Given the description of an element on the screen output the (x, y) to click on. 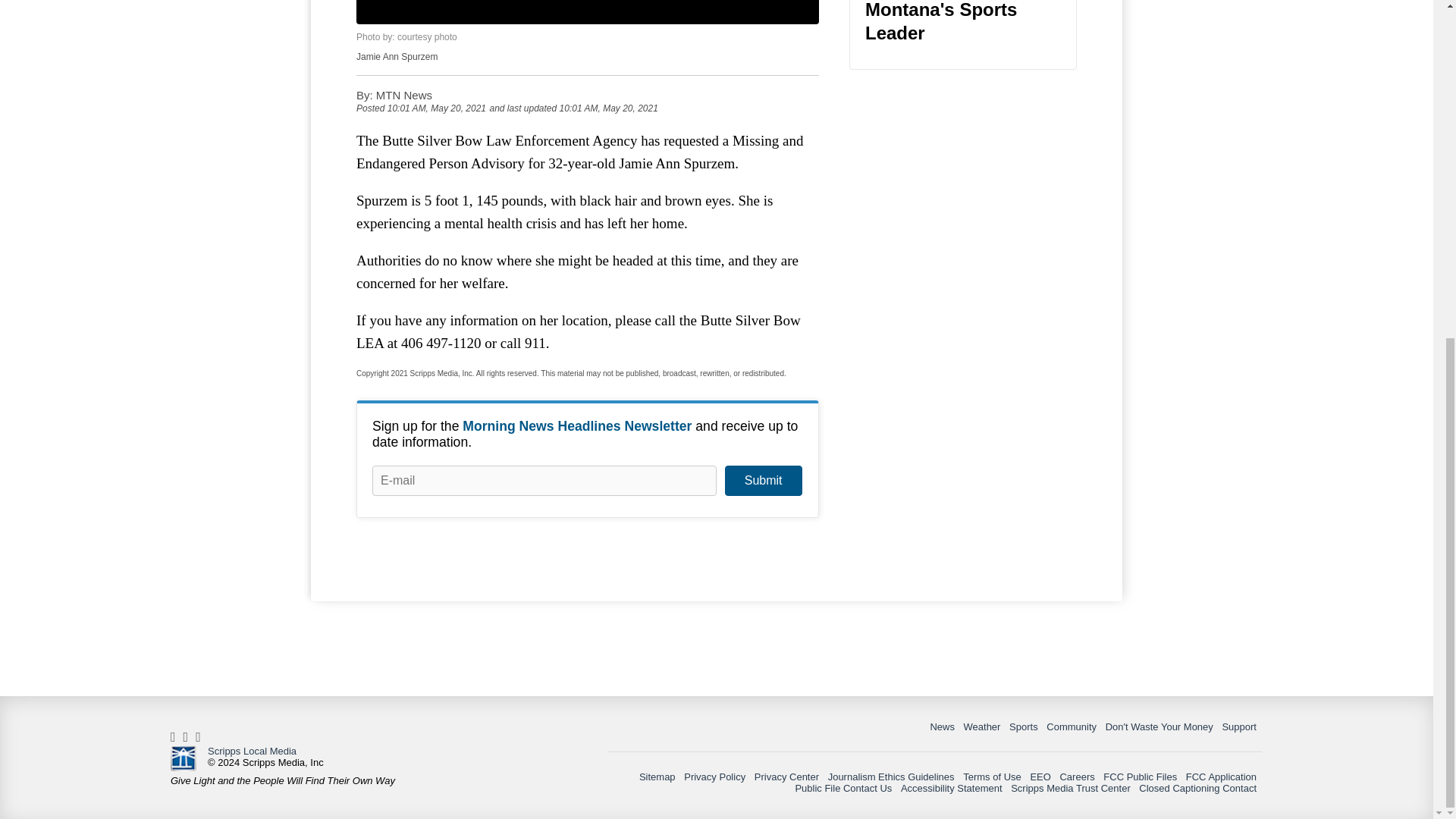
Submit (763, 481)
